Given the description of an element on the screen output the (x, y) to click on. 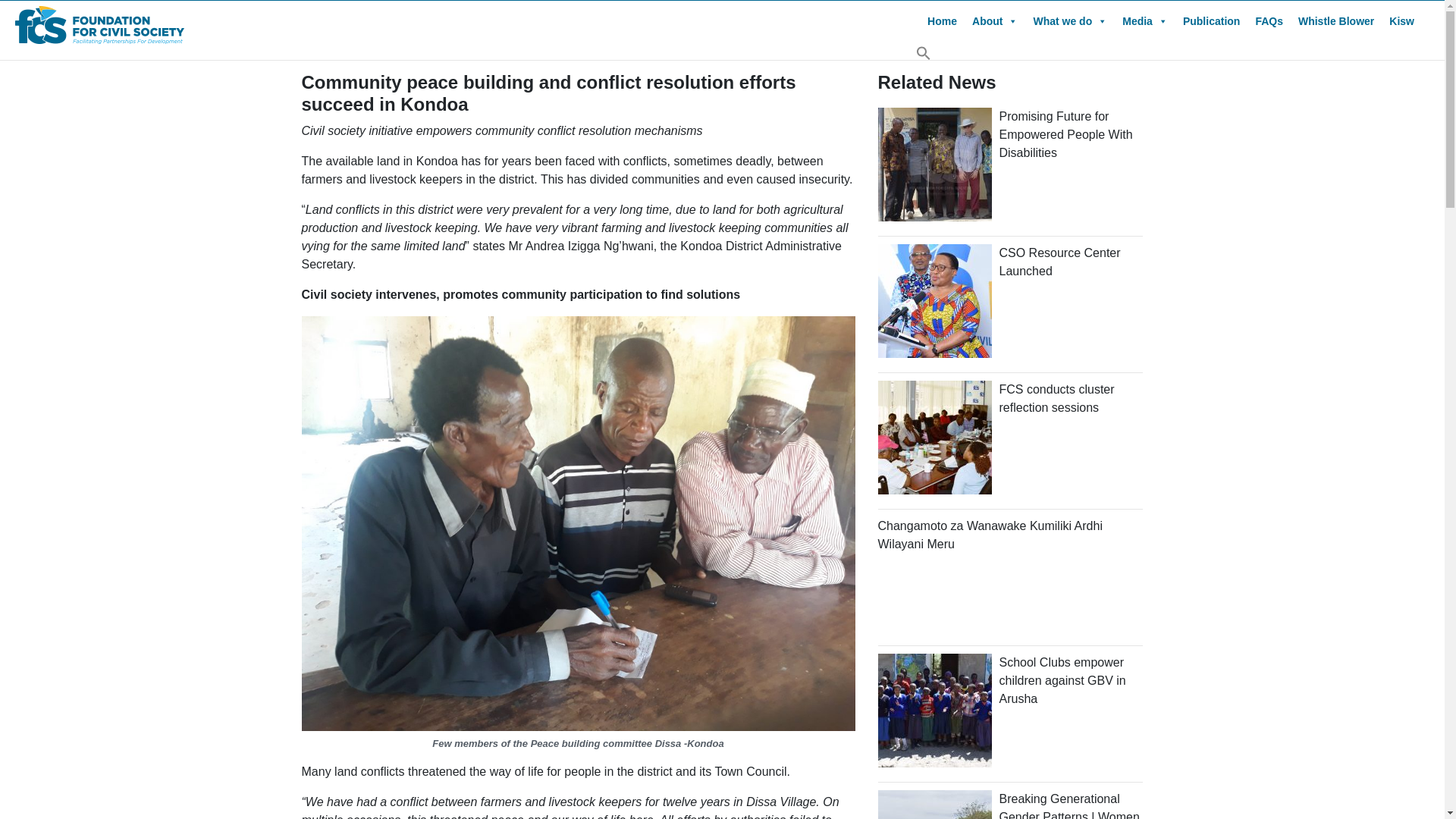
Publication (1210, 20)
Whistle Blower (1335, 20)
FCS conducts cluster reflection sessions (1056, 398)
School Clubs empower children against GBV in Arusha (1061, 680)
What we do (1070, 20)
Home (941, 20)
FAQs (1268, 20)
Kisw (1401, 20)
Changamoto za Wanawake Kumiliki Ardhi Wilayani Meru (989, 534)
CSO Resource Center Launched (1059, 261)
